Given the description of an element on the screen output the (x, y) to click on. 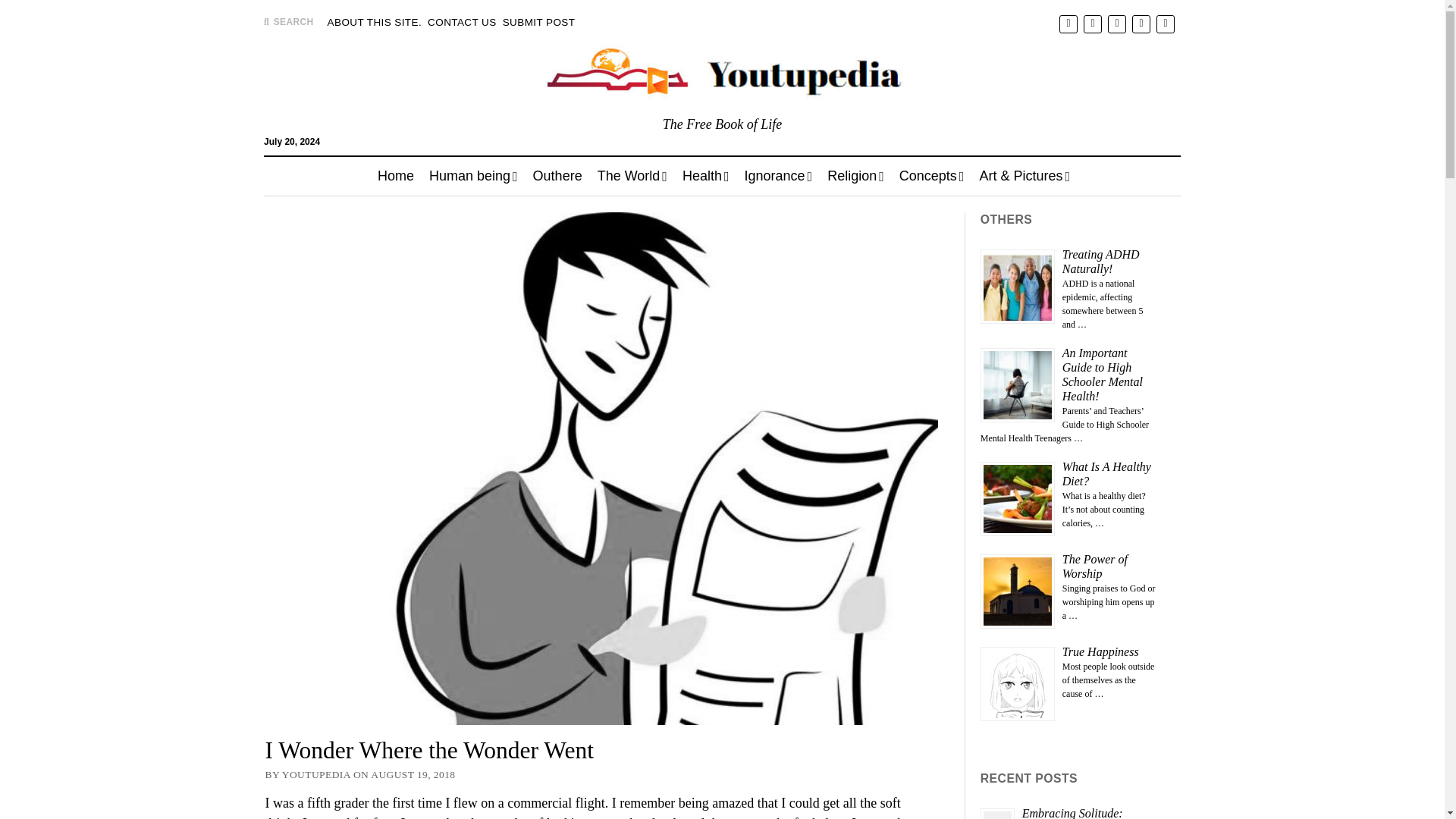
Human being (473, 176)
Home (395, 176)
Search (943, 141)
Permalink to The Power of Worship (1094, 565)
SEARCH (288, 21)
Religion (855, 176)
Permalink to What Is A Healthy Diet? (1106, 473)
CONTACT US (462, 22)
Permalink to Treating ADHD Naturally! (1101, 261)
Outhere (557, 176)
The World (632, 176)
SUBMIT POST (538, 22)
Health (705, 176)
Ignorance (778, 176)
